Given the description of an element on the screen output the (x, y) to click on. 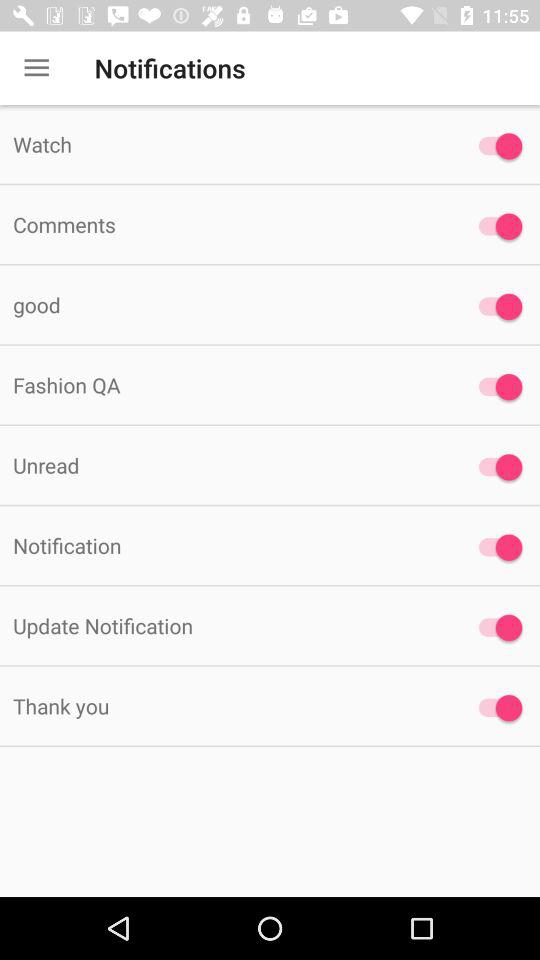
choose the item below update notification item (225, 705)
